Given the description of an element on the screen output the (x, y) to click on. 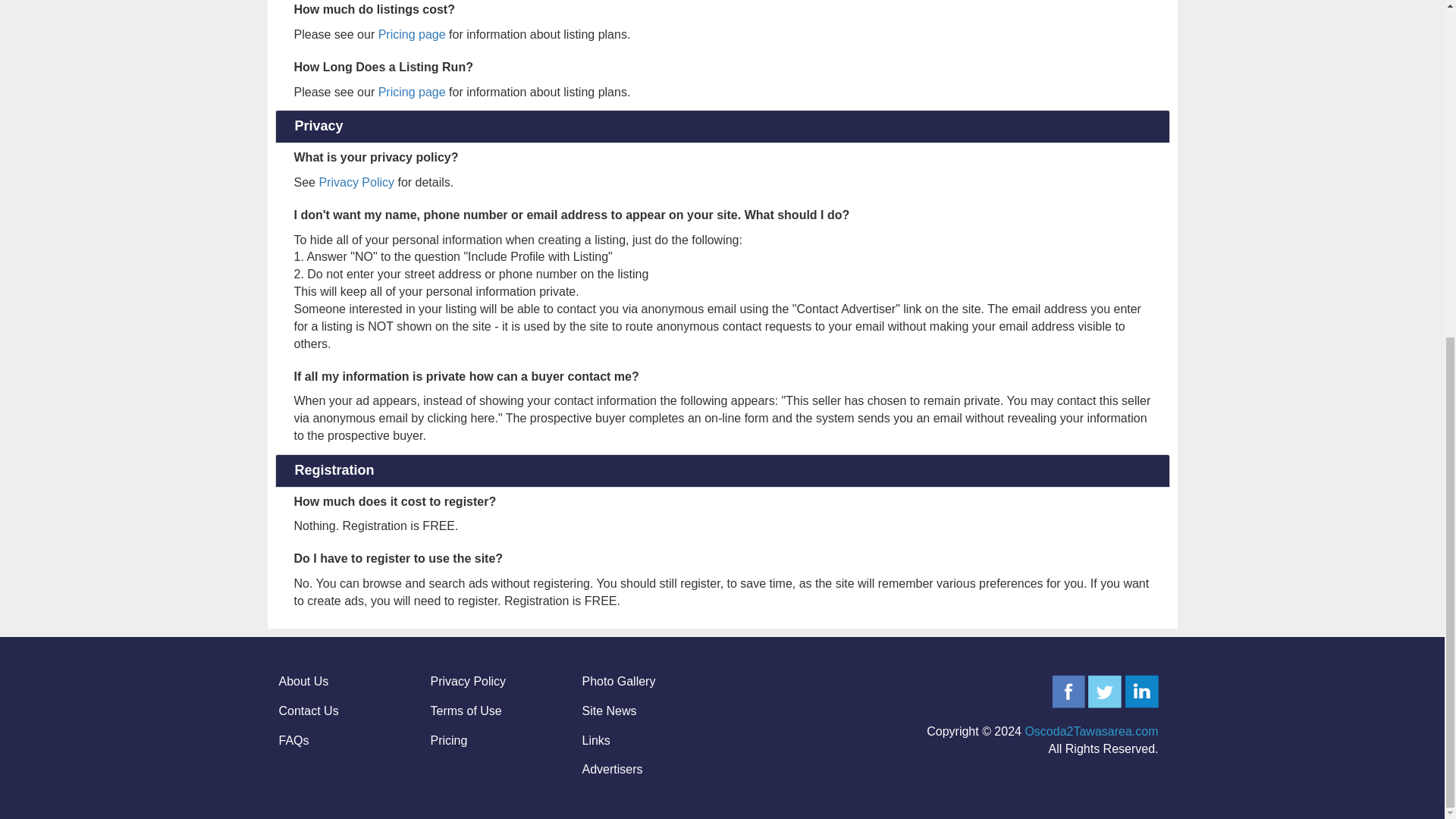
Privacy Policy (356, 182)
Privacy Policy (468, 680)
Follow Us on Twitter (1104, 689)
Photo Gallery (619, 680)
Pricing page (411, 33)
Terms of Use (466, 710)
Site News (609, 710)
Follow Us on Linked In (1141, 689)
About Us (304, 680)
Pricing page (411, 91)
Follow Us on Twitter (1104, 691)
FAQs (293, 739)
Oscoda2Tawasarea.com (1091, 730)
Follow Us on Linked In (1141, 691)
Links (596, 739)
